Given the description of an element on the screen output the (x, y) to click on. 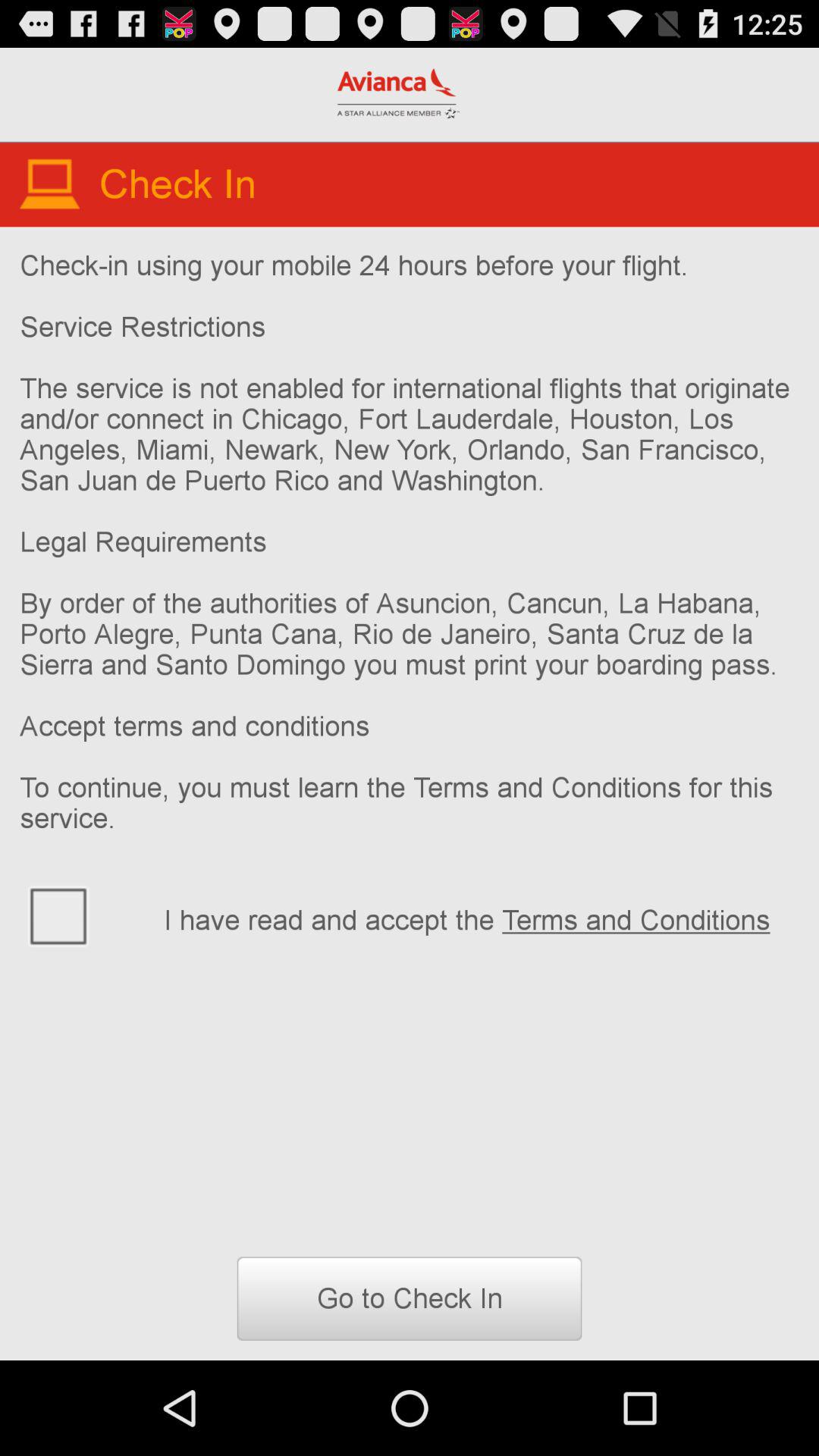
press the icon below check in using icon (81, 914)
